Given the description of an element on the screen output the (x, y) to click on. 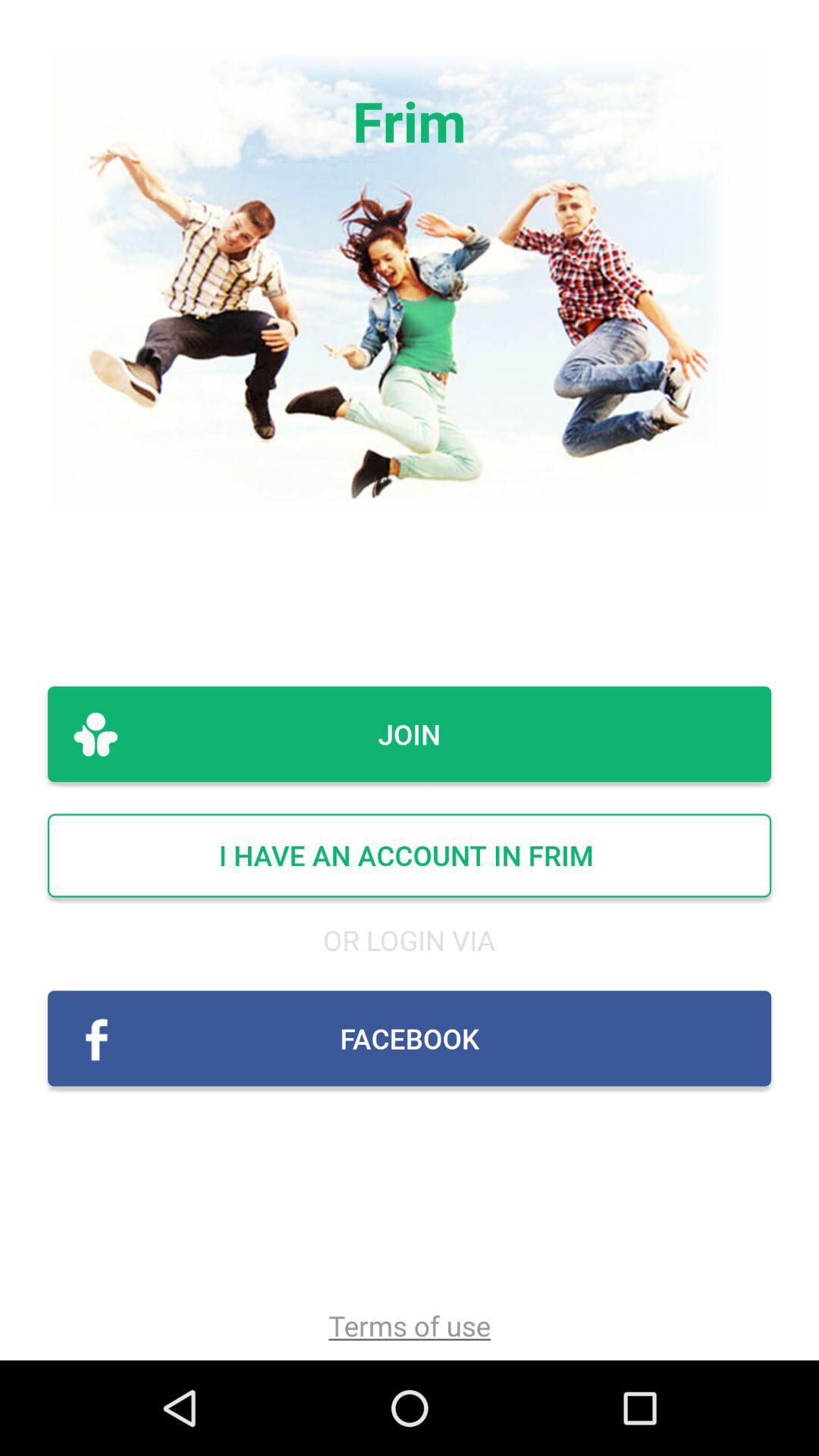
click item below the or login via icon (409, 1038)
